Given the description of an element on the screen output the (x, y) to click on. 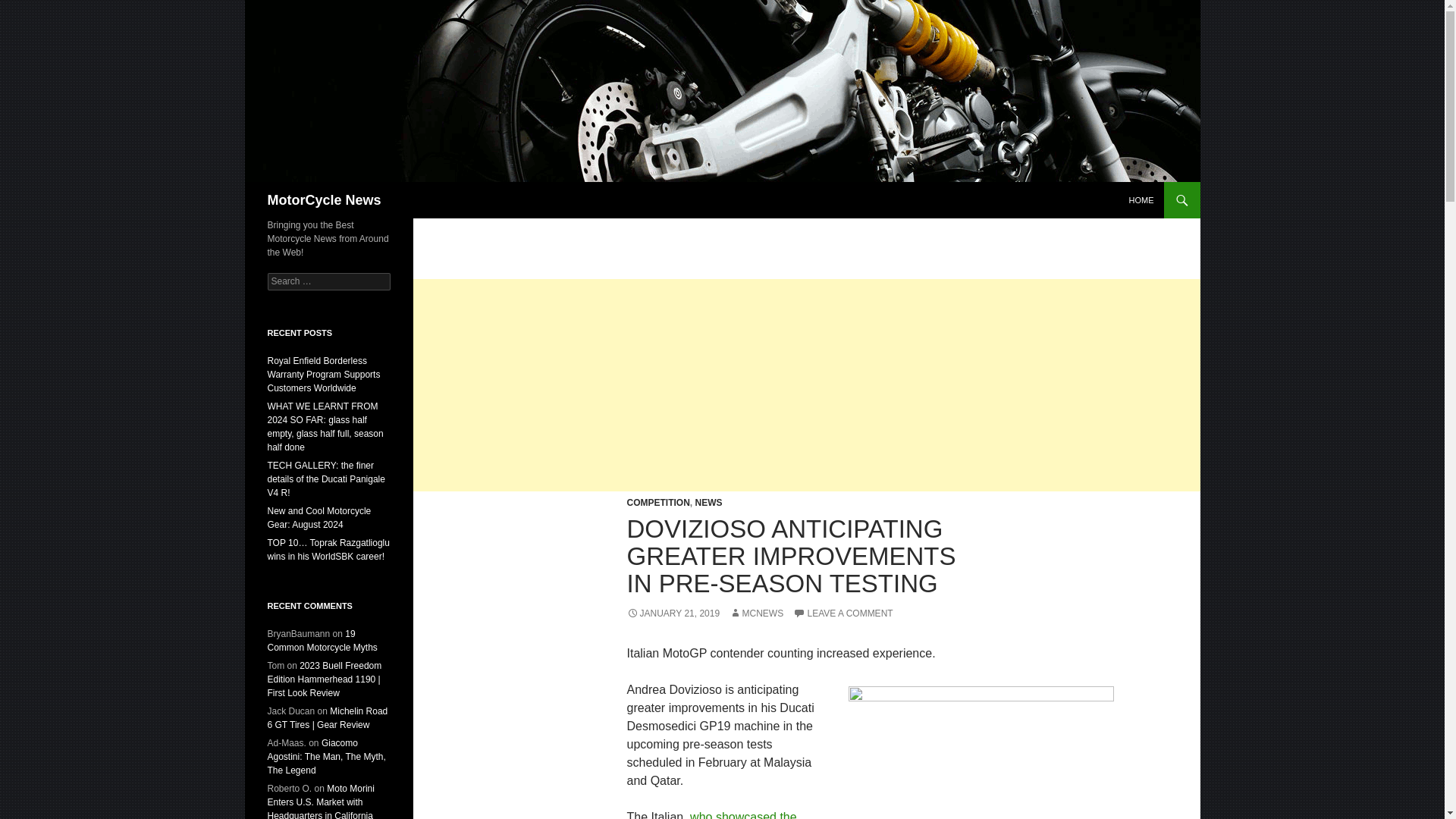
MCNEWS (756, 613)
Search (30, 8)
19 Common Motorcycle Myths (321, 640)
COMPETITION (657, 502)
NEWS (708, 502)
LEAVE A COMMENT (842, 613)
Giacomo Agostini: The Man, The Myth, The Legend (325, 756)
TECH GALLERY: the finer details of the Ducati Panigale V4 R! (325, 478)
MotorCycle News (323, 199)
HOME (1140, 199)
New and Cool Motorcycle Gear: August 2024 (318, 517)
JANUARY 21, 2019 (672, 613)
